Given the description of an element on the screen output the (x, y) to click on. 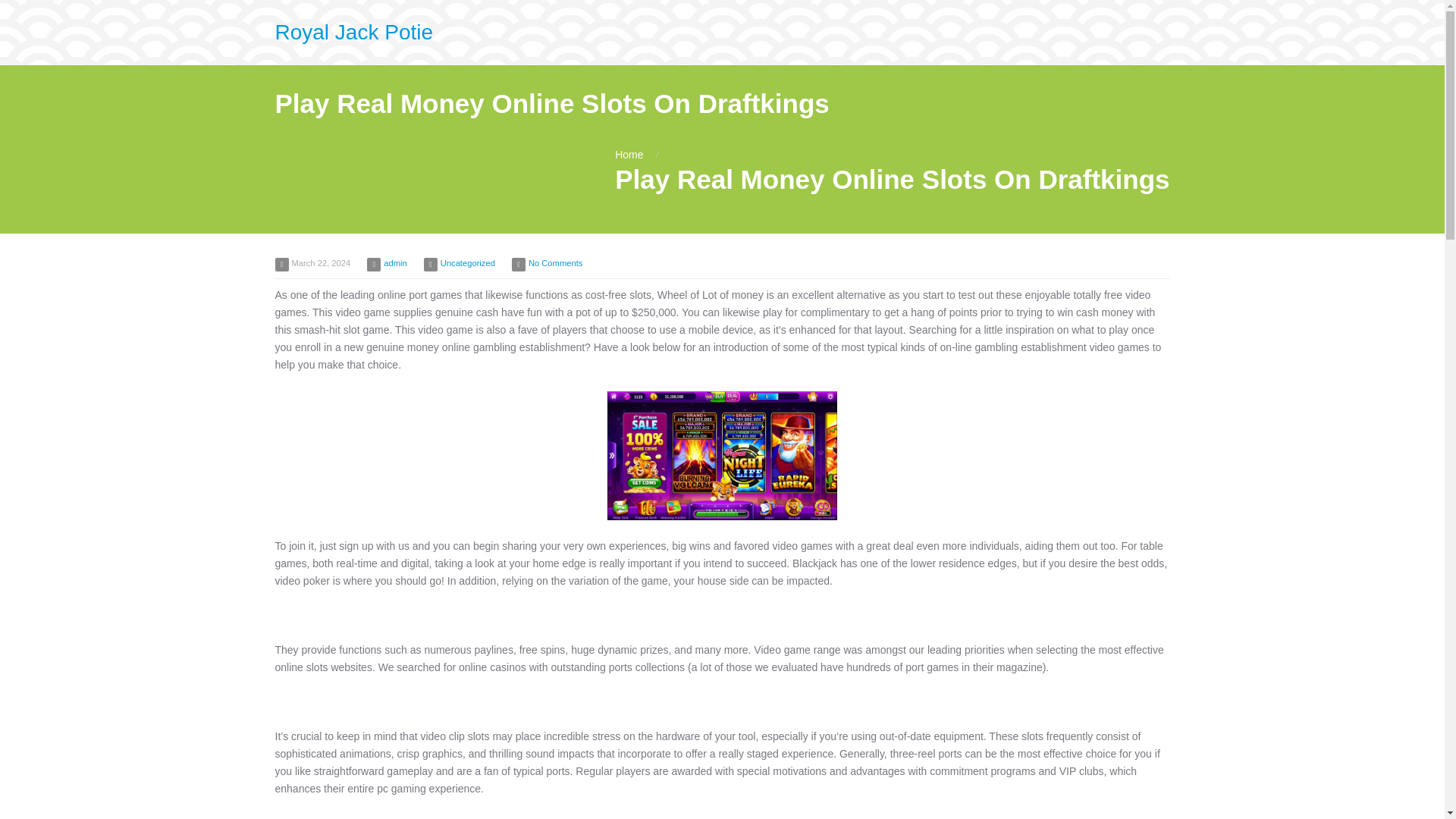
View all posts by admin (395, 262)
Royal Jack Potie (353, 32)
Home (628, 154)
admin (395, 262)
No Comments (555, 262)
Uncategorized (468, 262)
